Given the description of an element on the screen output the (x, y) to click on. 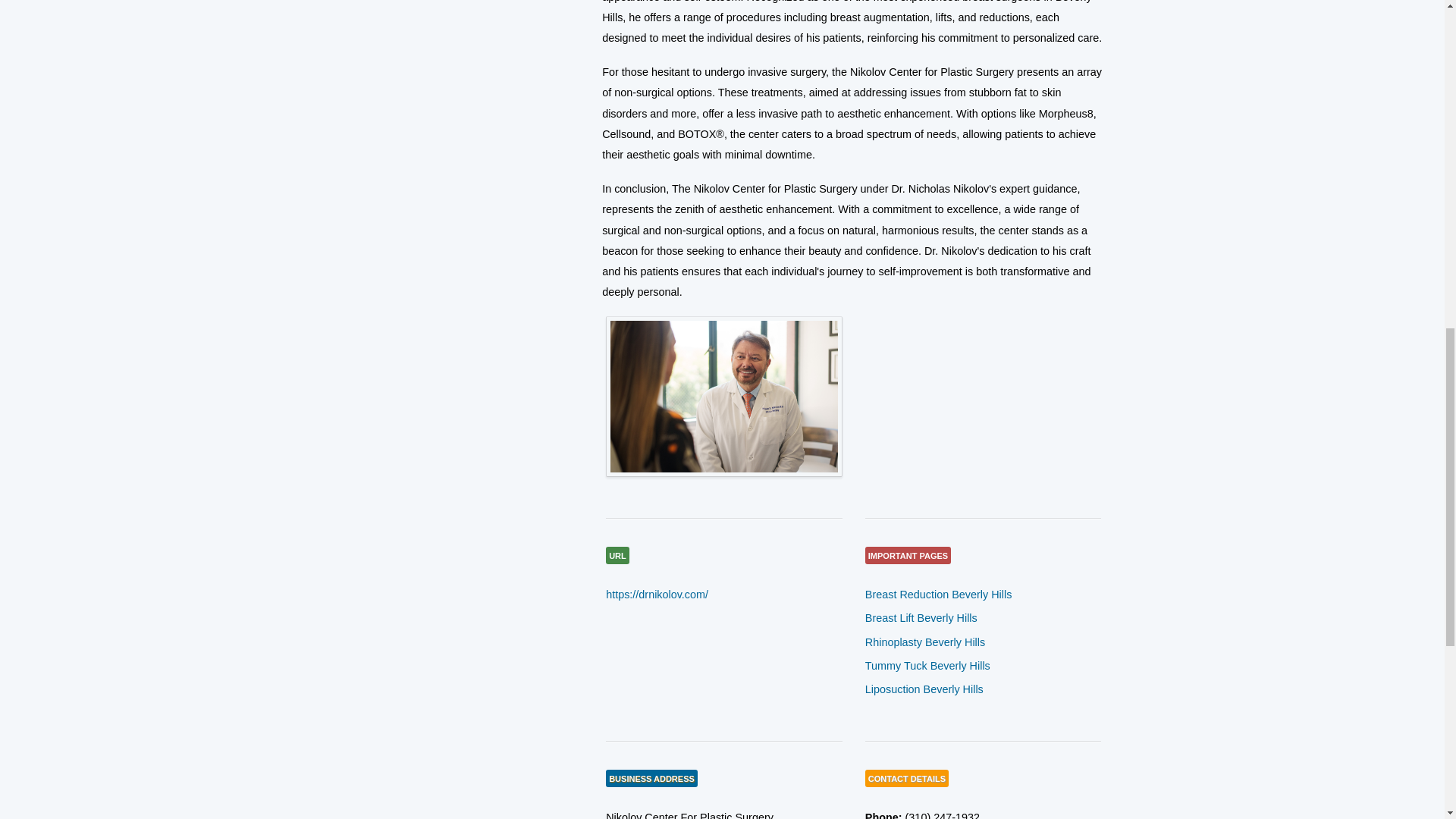
Tummy Tuck Beverly Hills (927, 665)
Liposuction Beverly Hills (924, 689)
Rhinoplasty Beverly Hills (924, 642)
Breast Lift Beverly Hills (920, 617)
Breast Reduction Beverly Hills (937, 594)
